Given the description of an element on the screen output the (x, y) to click on. 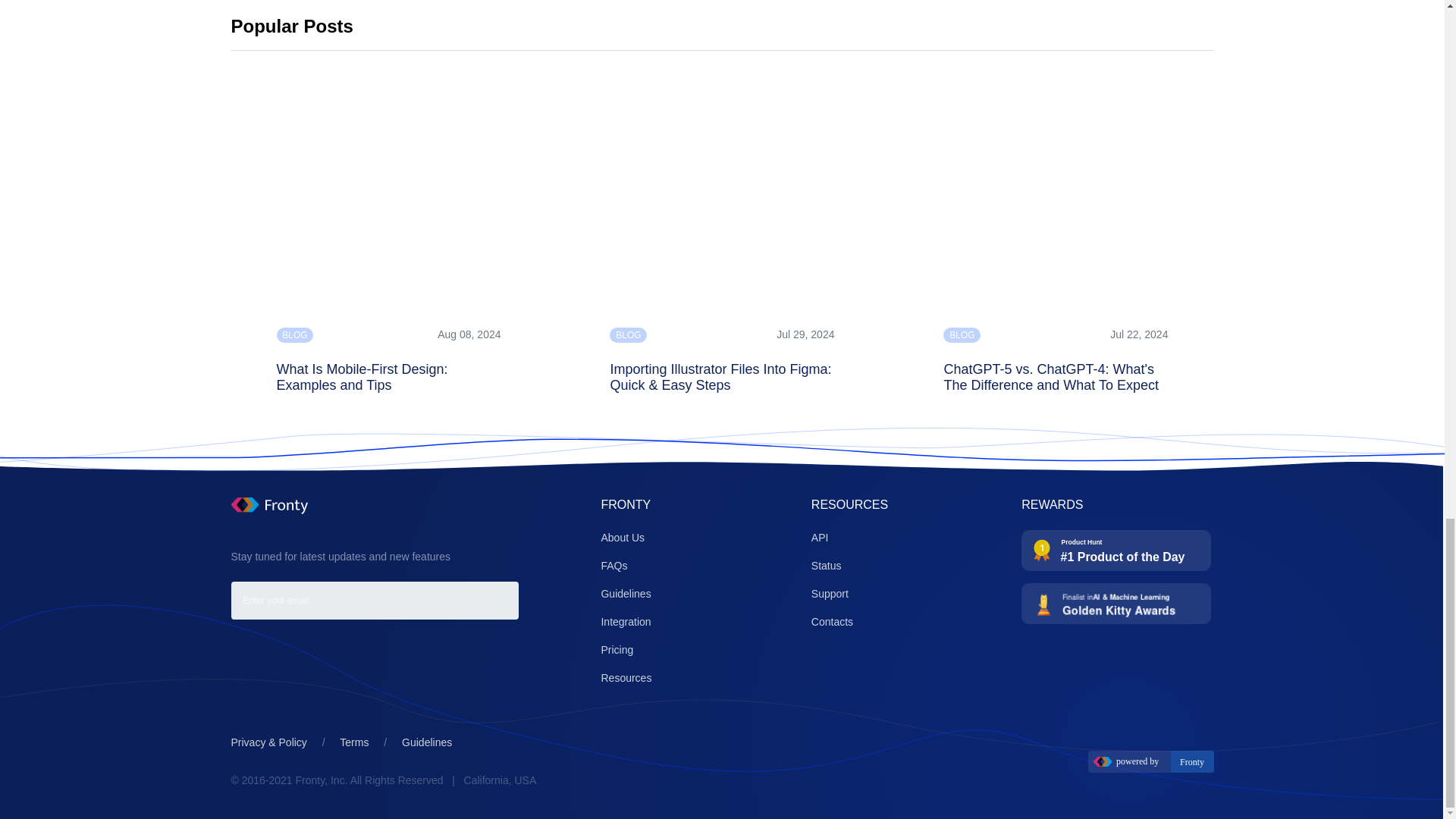
Contacts (831, 621)
Guidelines (624, 593)
Popular Posts (291, 25)
Integration (624, 621)
API (819, 537)
Support (829, 593)
About Us (622, 537)
Fronty - Golden Kitty Awards 2019 Finalist (1116, 603)
